Given the description of an element on the screen output the (x, y) to click on. 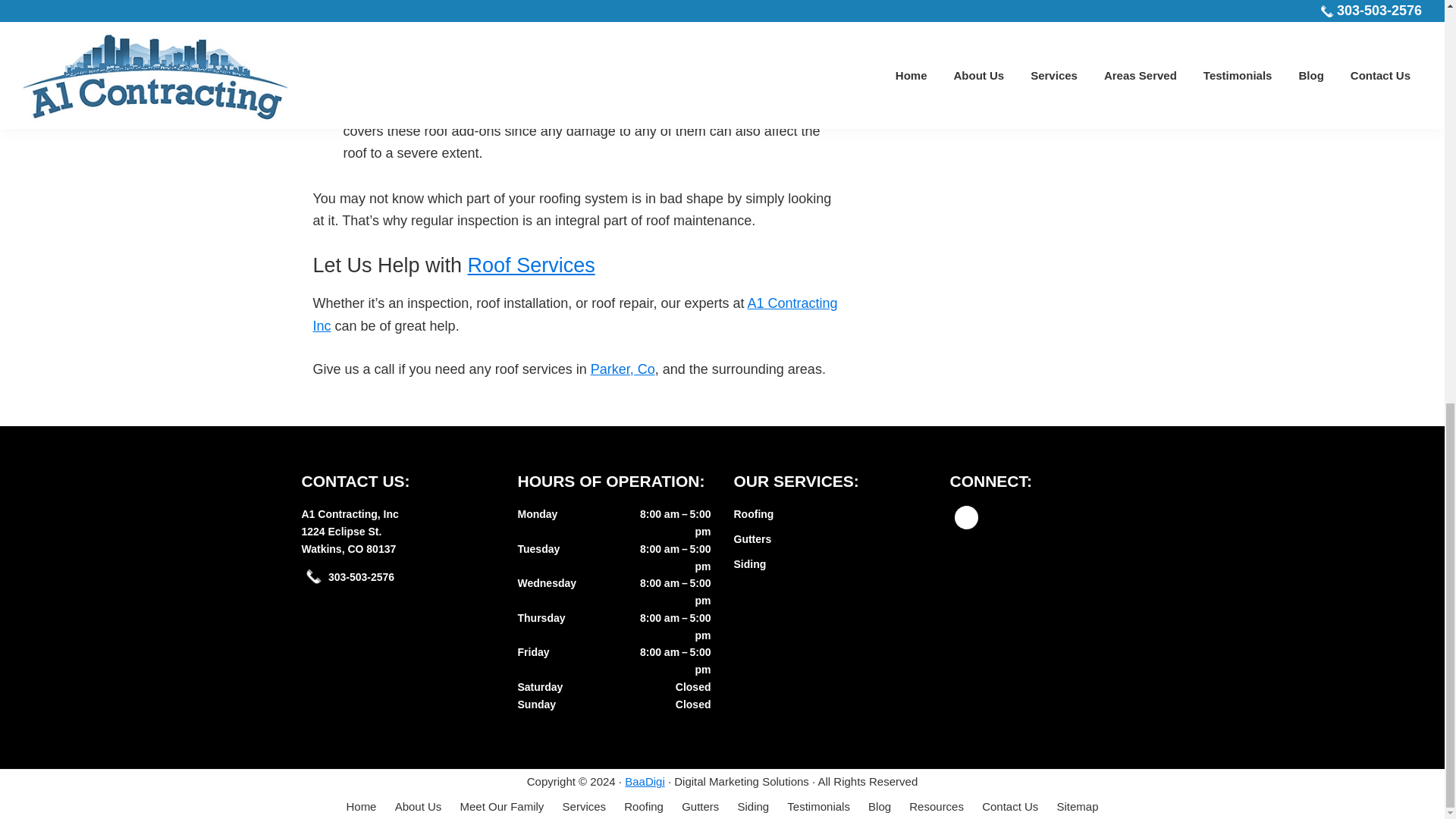
A1 Contracting Inc (575, 313)
Roof Services (531, 264)
About Us (418, 806)
Roofing (643, 806)
303-503-2576 (361, 576)
Meet Our Family (502, 806)
BaaDigi (644, 780)
Gutters (752, 539)
Services (584, 806)
A1 Contracting, Inc (349, 513)
